Given the description of an element on the screen output the (x, y) to click on. 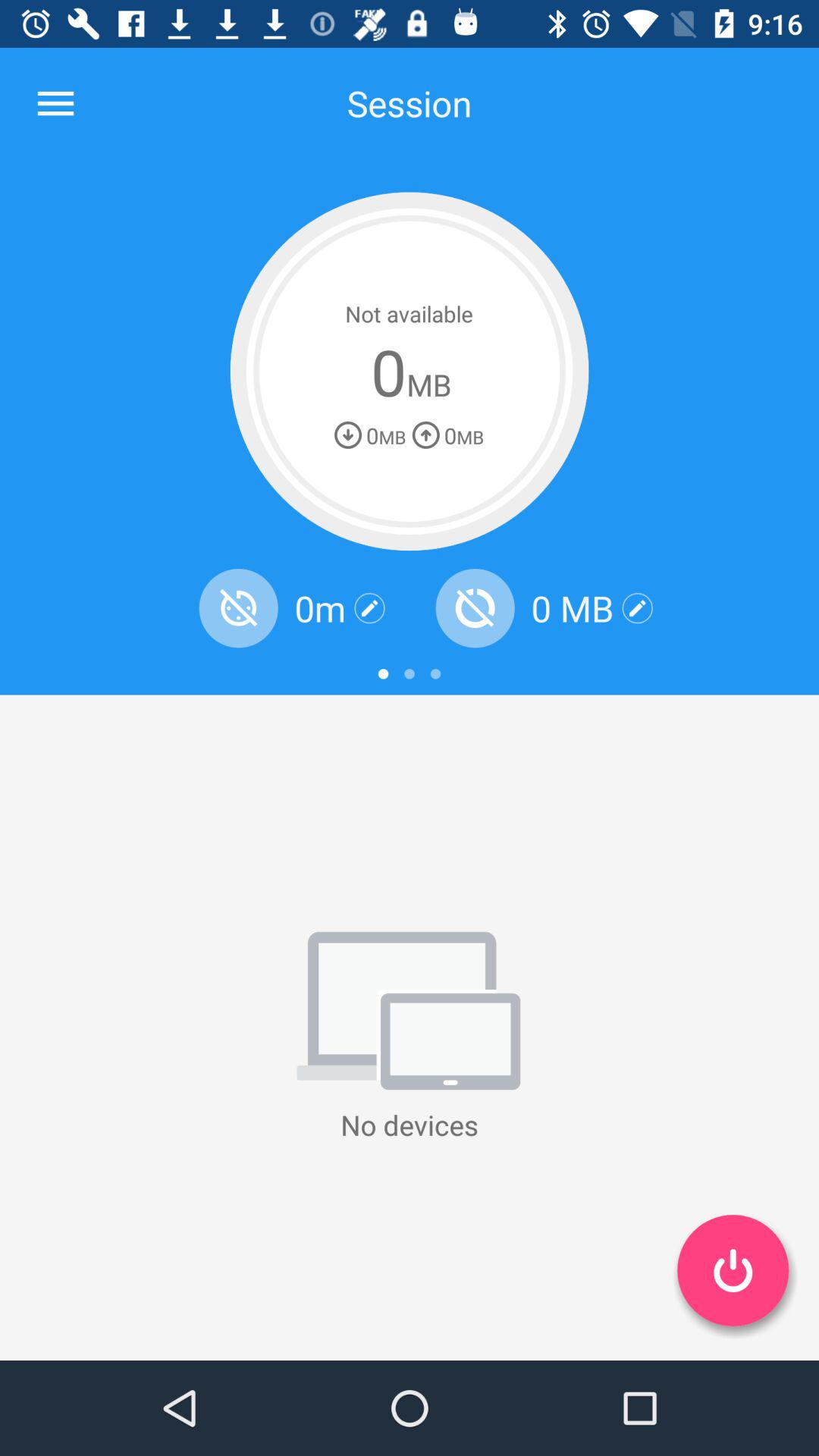
relode (238, 607)
